Given the description of an element on the screen output the (x, y) to click on. 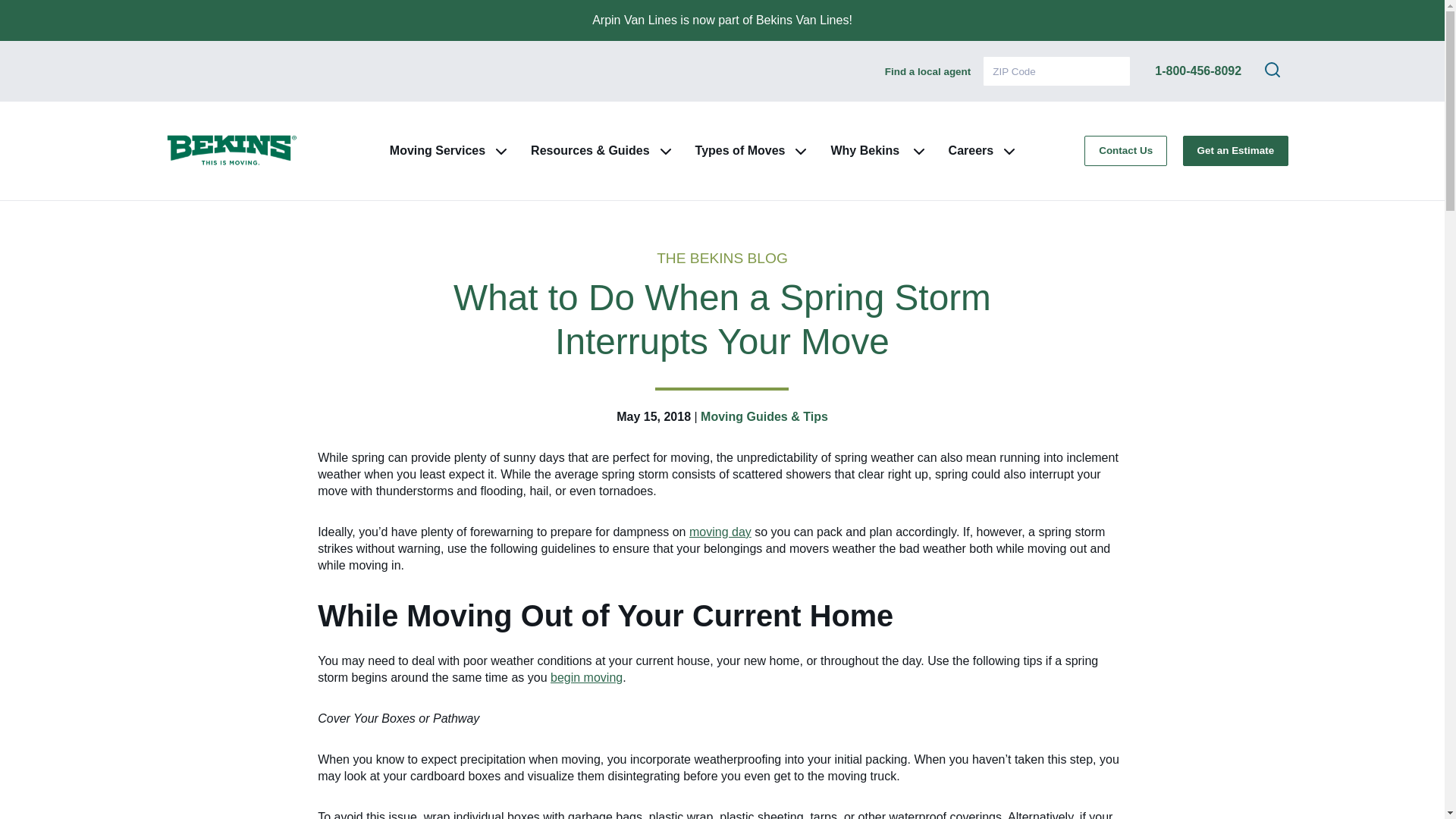
Find a local agent (928, 70)
Moving Services (437, 150)
1-800-456-8092 (1197, 70)
Contact Us (1125, 150)
Types of Moves (740, 150)
Get an Estimate (1235, 150)
